Given the description of an element on the screen output the (x, y) to click on. 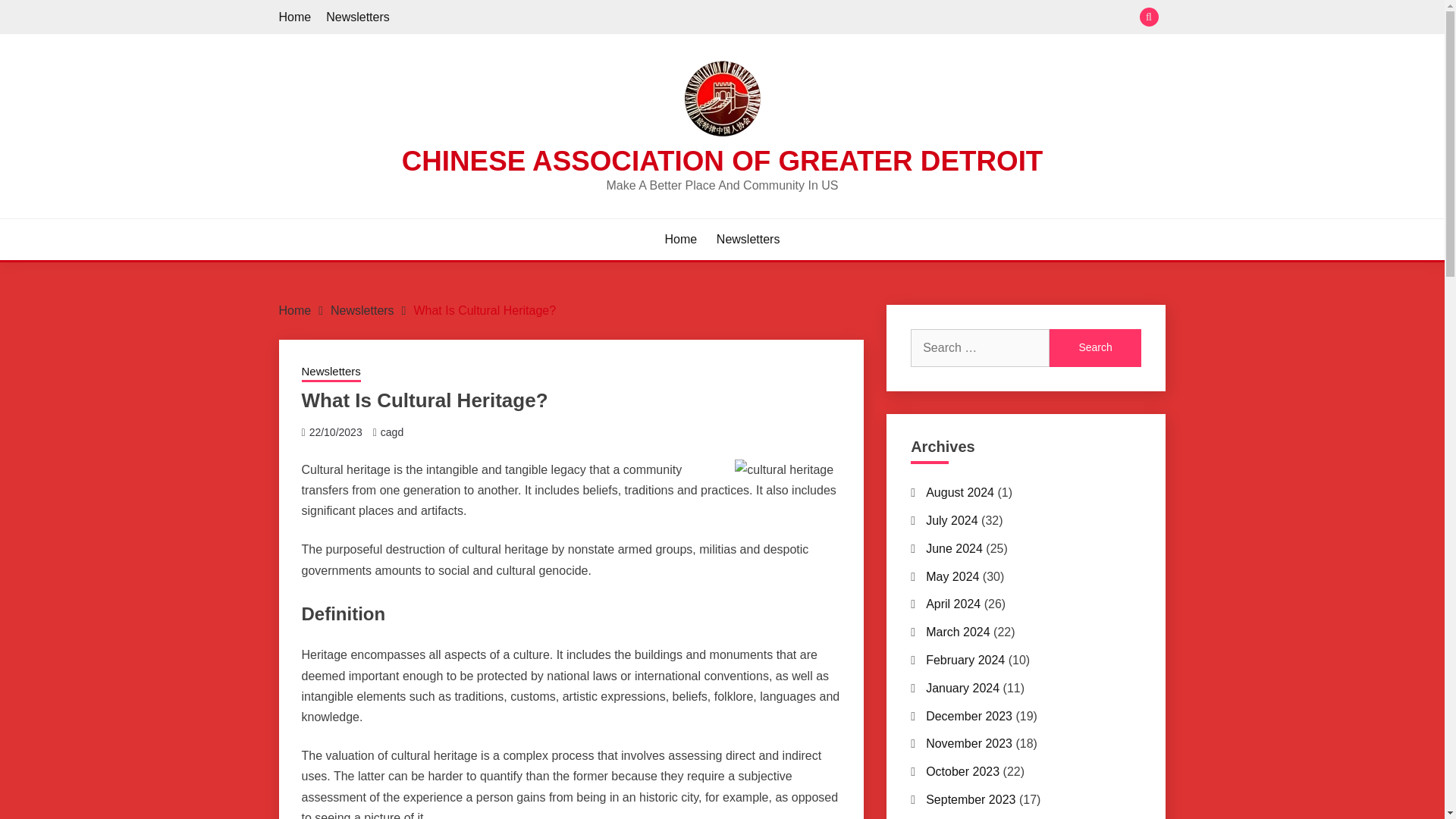
December 2023 (968, 716)
Newsletters (362, 309)
cagd (391, 431)
Home (295, 309)
Newsletters (748, 239)
November 2023 (968, 743)
Newsletters (331, 373)
March 2024 (958, 631)
Newsletters (358, 16)
January 2024 (962, 687)
What Is Cultural Heritage? (484, 309)
Home (681, 239)
July 2024 (952, 520)
Search (1095, 347)
Home (295, 16)
